Given the description of an element on the screen output the (x, y) to click on. 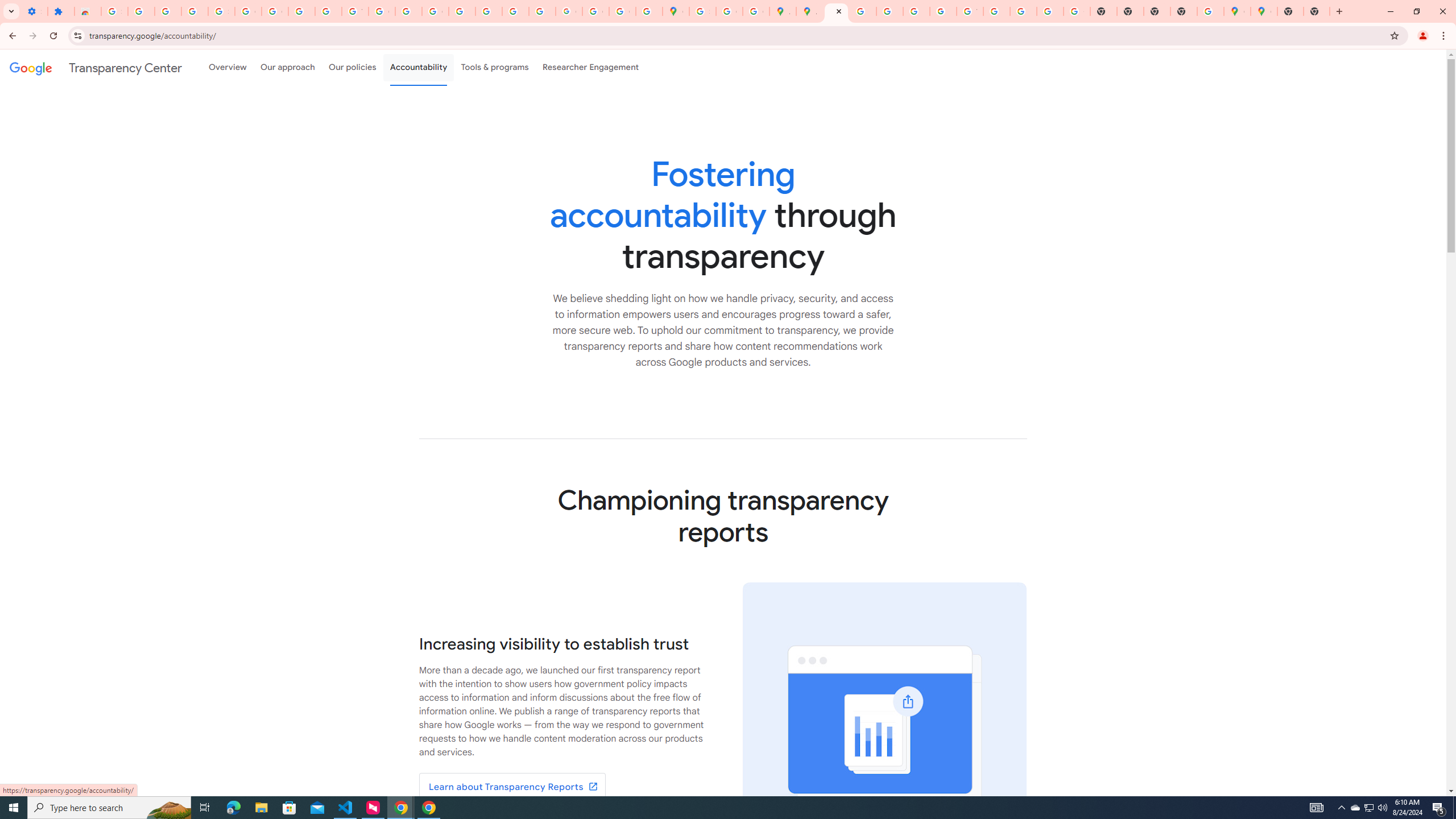
Accountability (418, 67)
Go to Transparency Report About web page (512, 786)
Our approach (287, 67)
Settings - On startup (34, 11)
Learn how to find your photos - Google Photos Help (167, 11)
Browse Chrome as a guest - Computer - Google Chrome Help (996, 11)
